Given the description of an element on the screen output the (x, y) to click on. 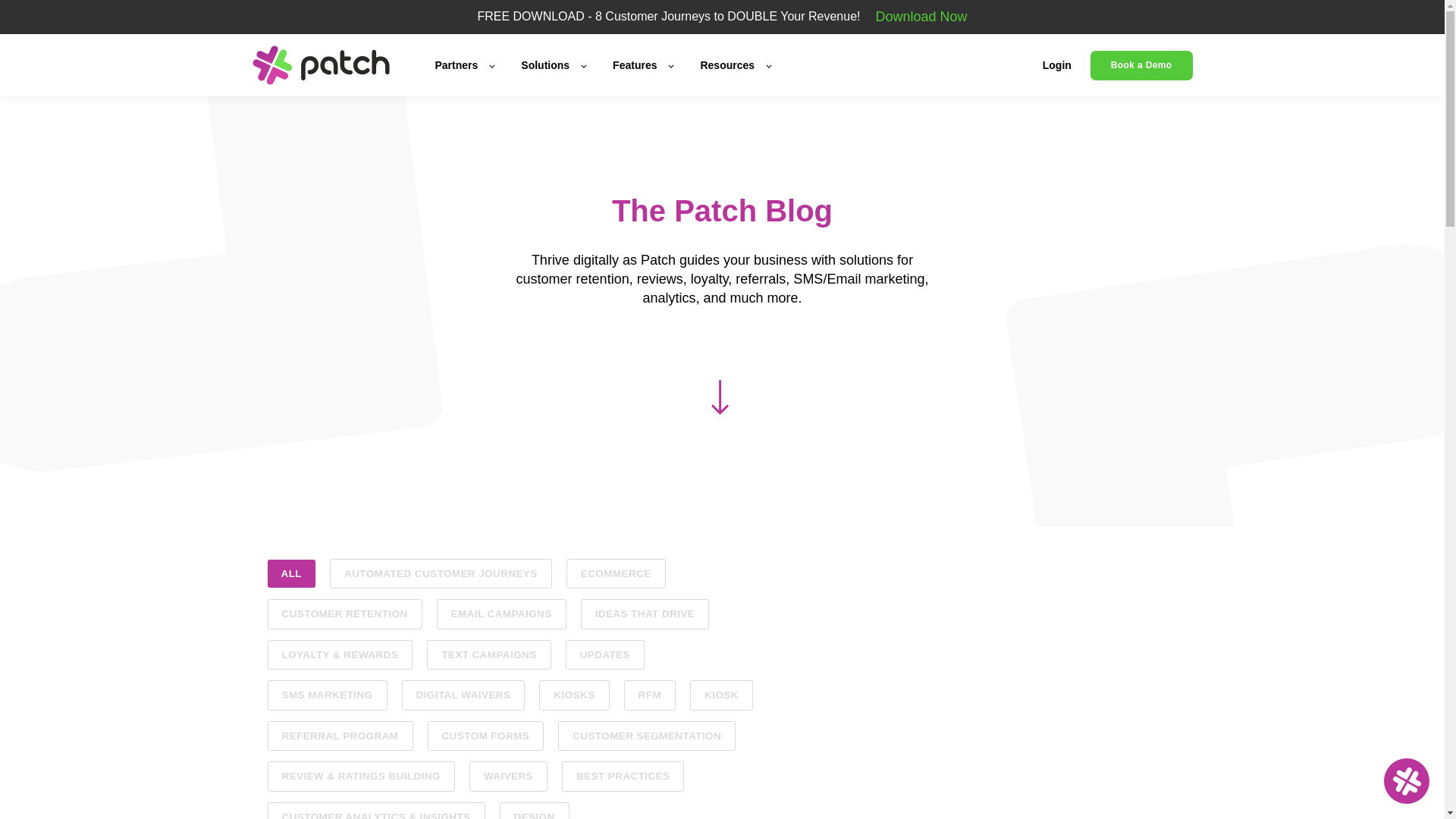
AUTOMATED CUSTOMER JOURNEYS (440, 573)
ALL (290, 573)
Book a Demo (1141, 65)
Partners (465, 64)
Solutions (553, 64)
DIGITAL WAIVERS (463, 695)
Resources (735, 64)
TEXT CAMPAIGNS (488, 654)
Features (642, 64)
IDEAS THAT DRIVE (645, 613)
